Given the description of an element on the screen output the (x, y) to click on. 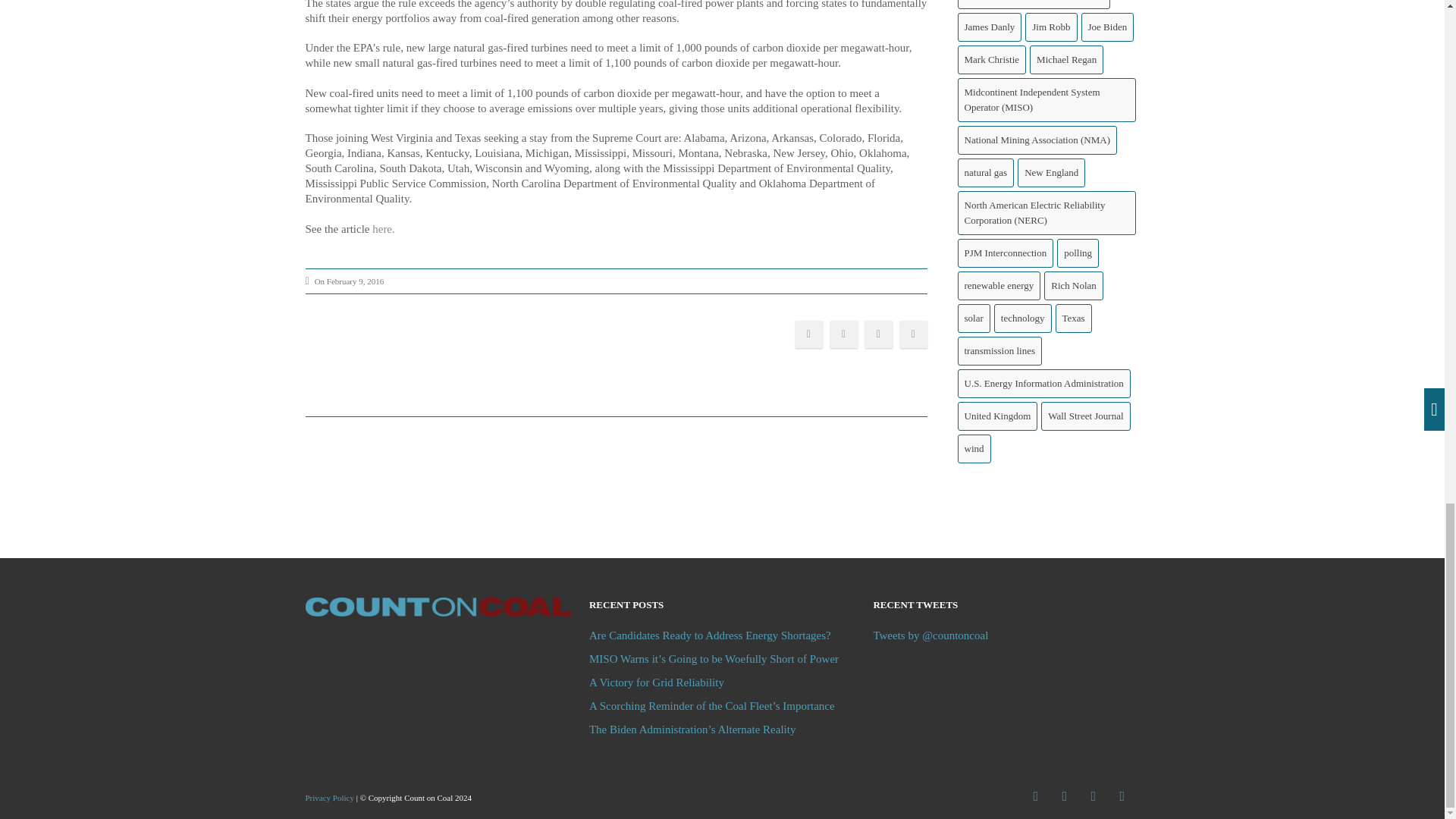
here. (383, 228)
